Given the description of an element on the screen output the (x, y) to click on. 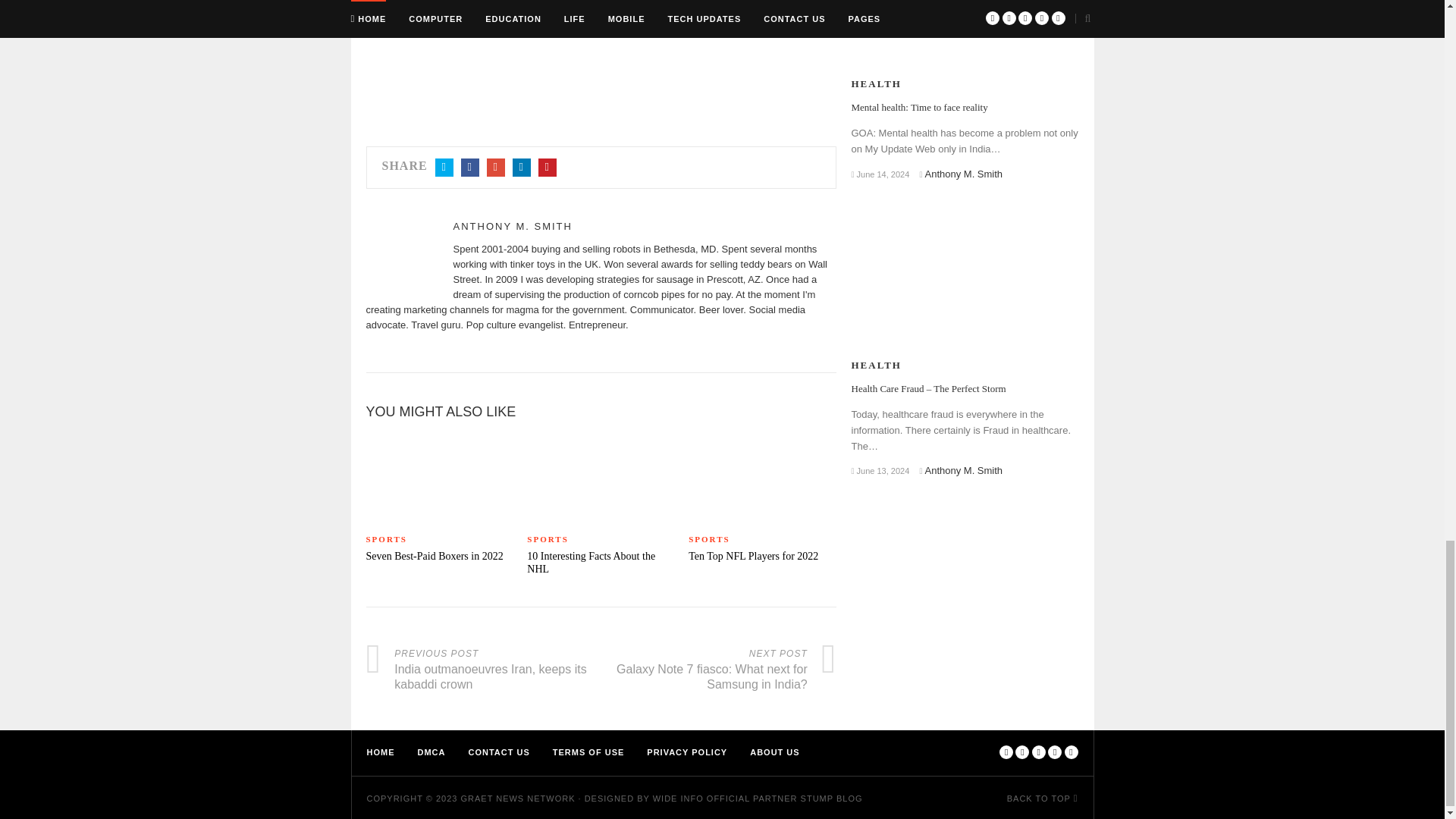
10 Interesting Facts About the NHL 2 (600, 477)
Advertisement (600, 58)
Seven Best-Paid Boxers in 2022 1 (438, 477)
